Given the description of an element on the screen output the (x, y) to click on. 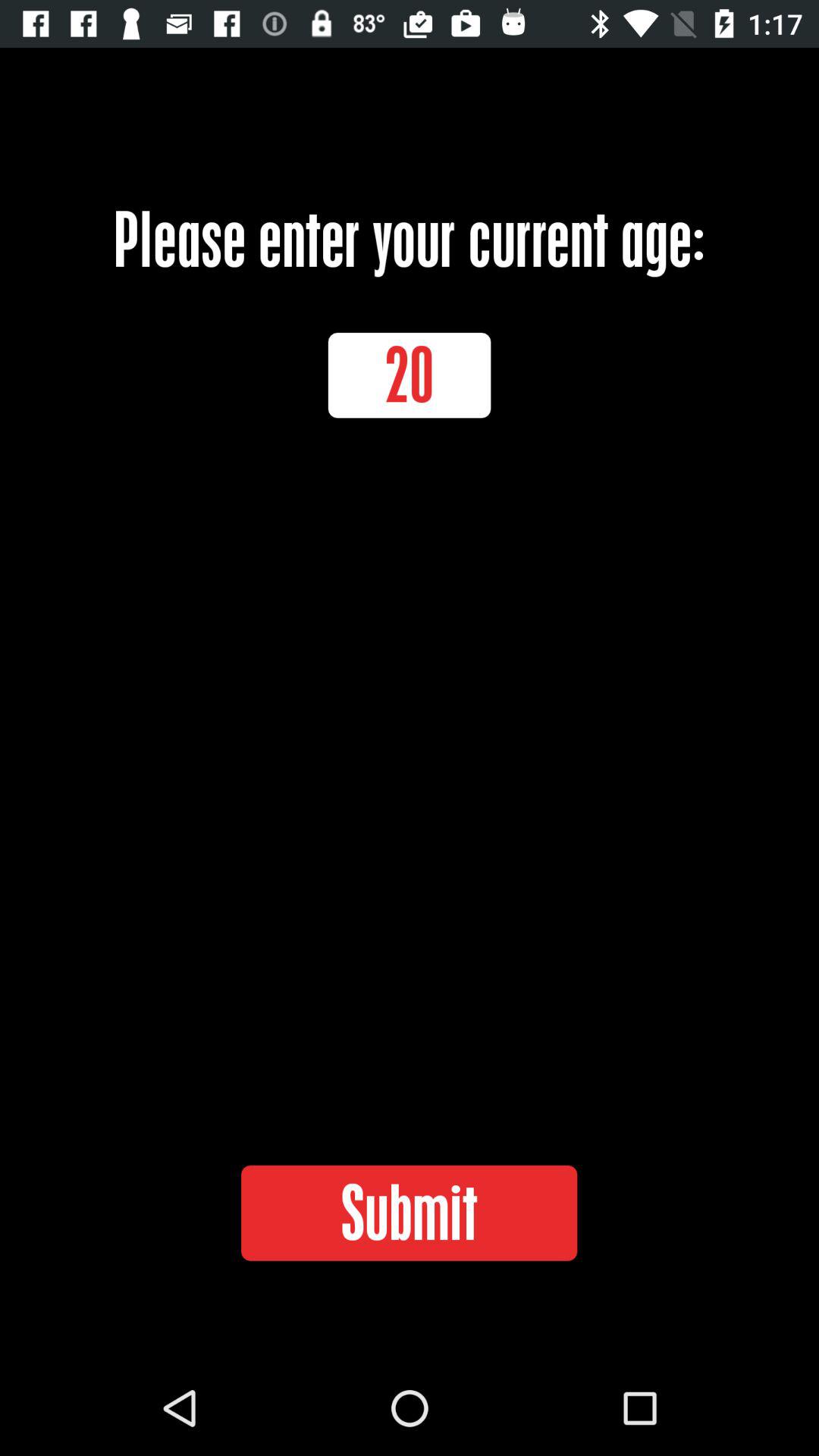
flip until the submit item (409, 1212)
